Given the description of an element on the screen output the (x, y) to click on. 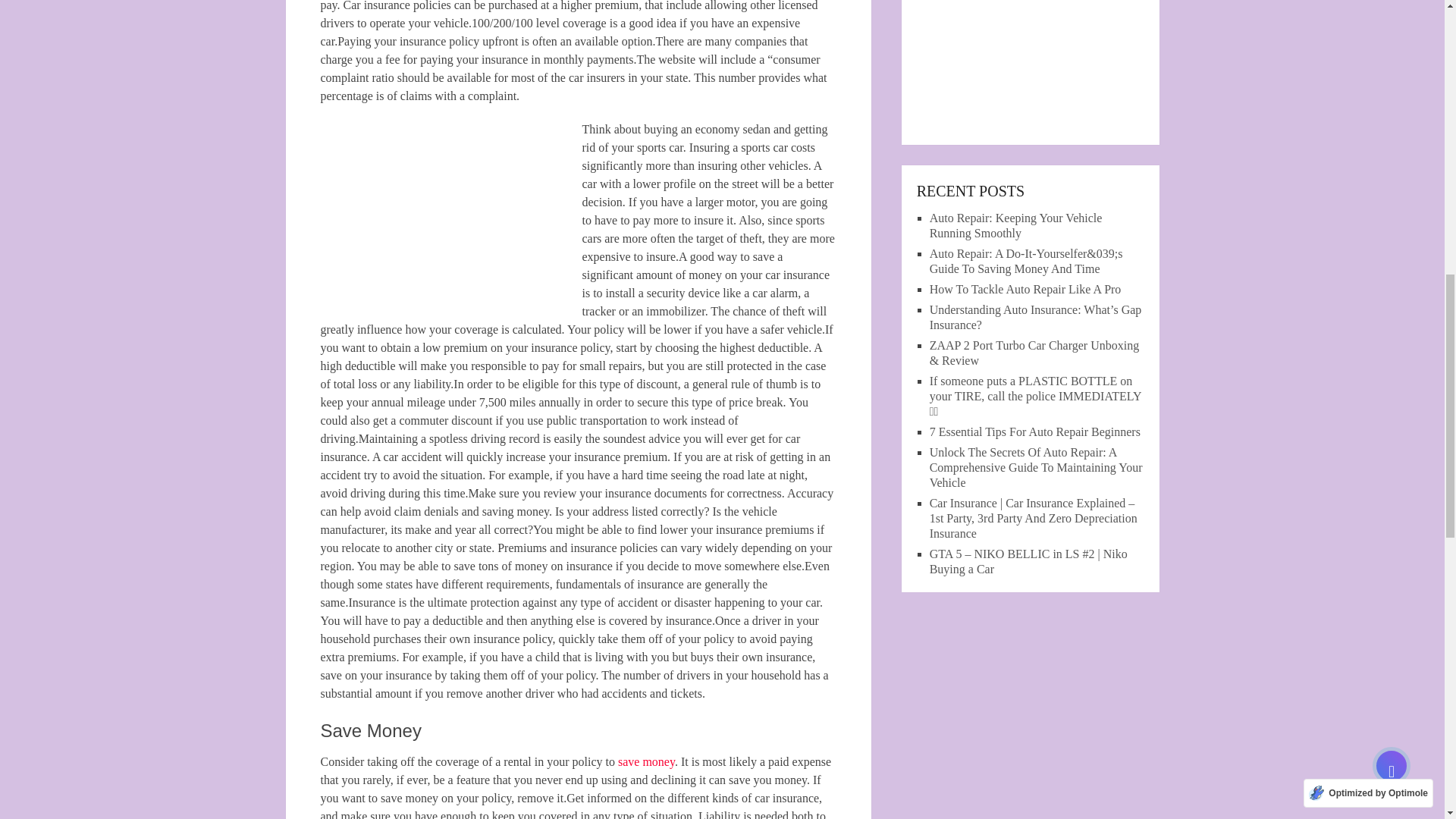
7 Essential Tips For Auto Repair Beginners (1035, 431)
How To Tackle Auto Repair Like A Pro (1025, 288)
Auto Repair: Keeping Your Vehicle Running Smoothly (1016, 225)
Learn How To Save Money On Your Auto Insurance (450, 209)
save money (646, 761)
